Given the description of an element on the screen output the (x, y) to click on. 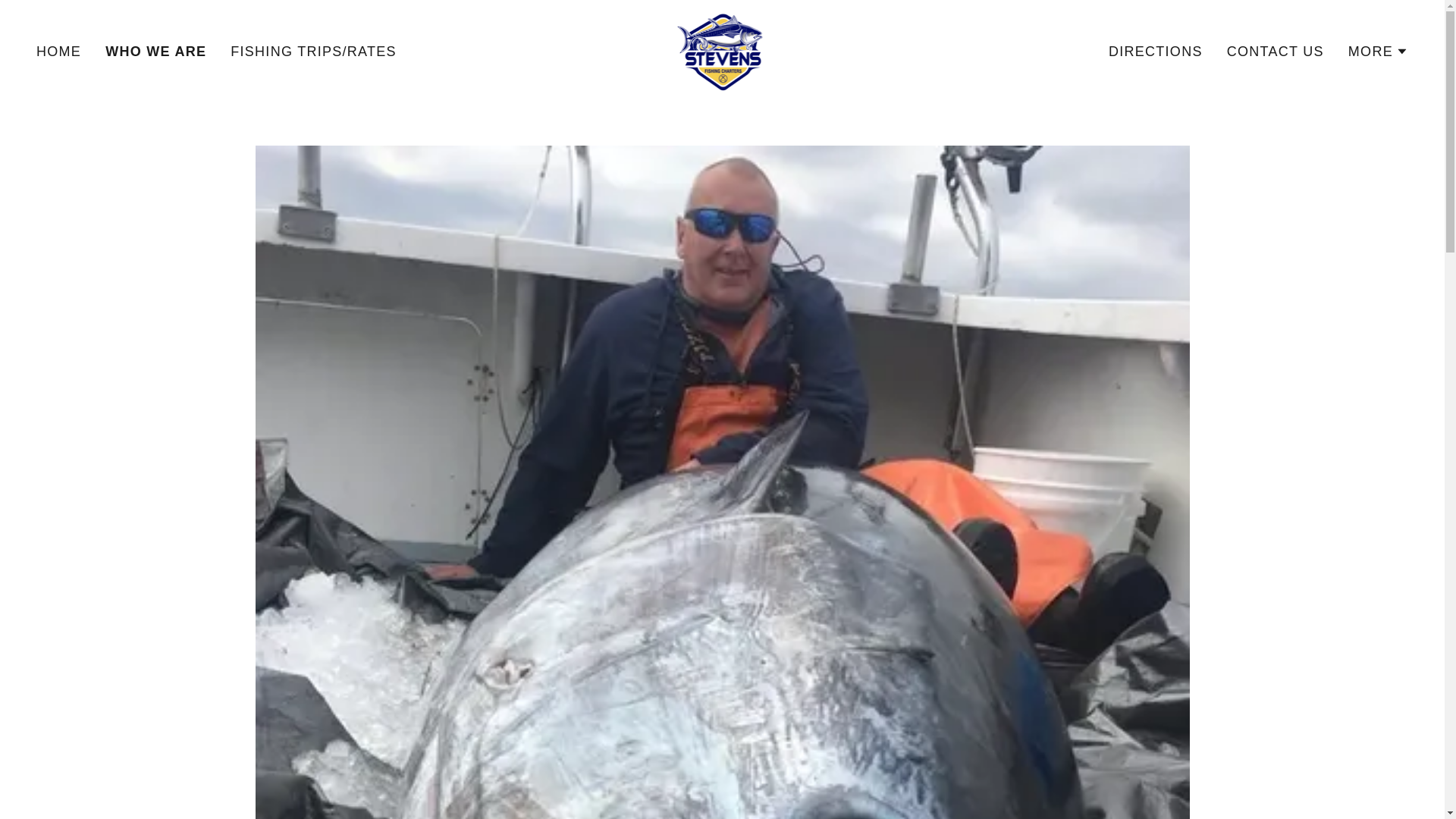
DIRECTIONS (1155, 51)
Stevens Fishing (722, 49)
HOME (58, 51)
WHO WE ARE (155, 51)
MORE (1377, 51)
CONTACT US (1275, 51)
